Given the description of an element on the screen output the (x, y) to click on. 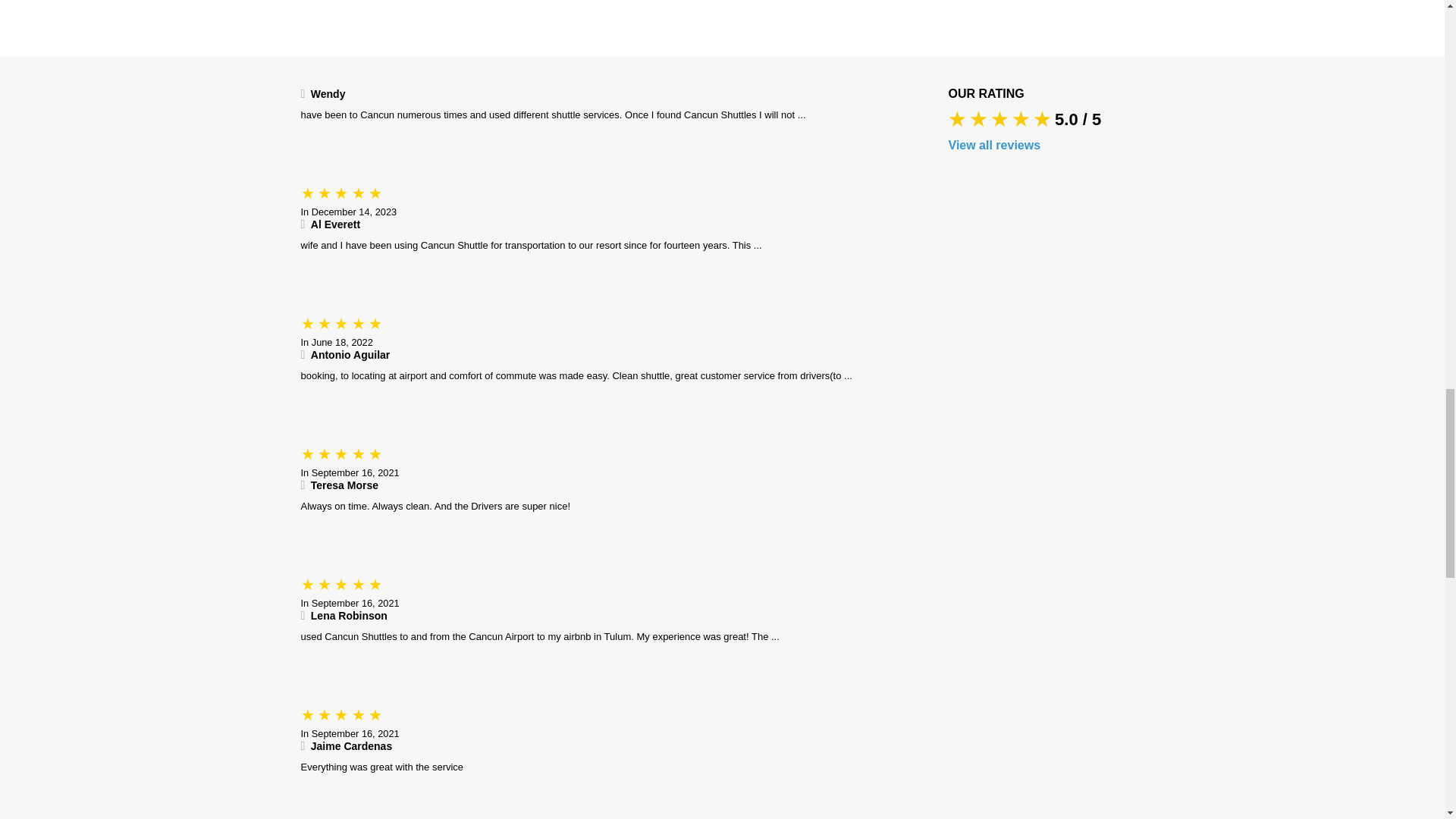
View all reviews (1049, 145)
